Given the description of an element on the screen output the (x, y) to click on. 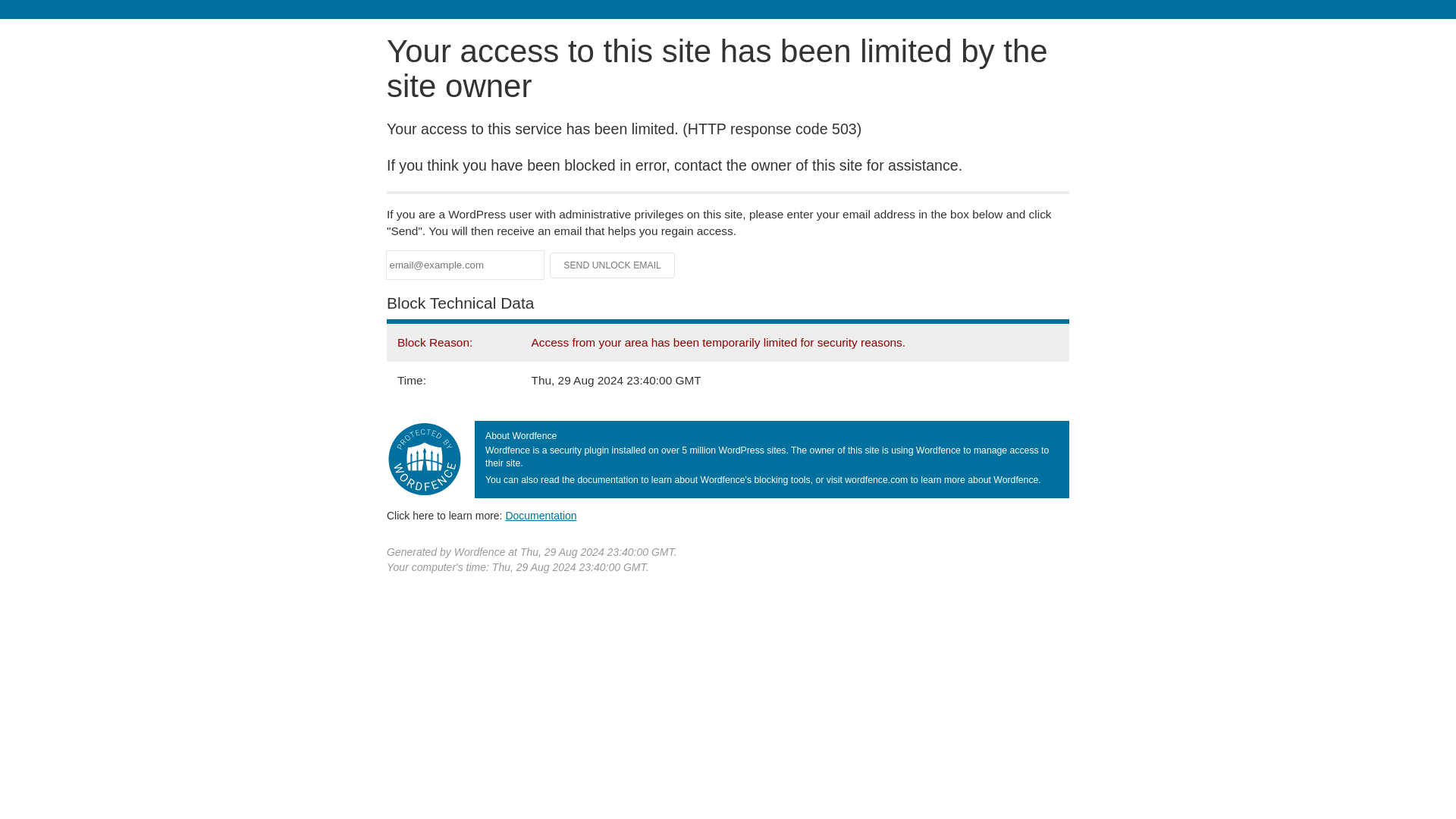
Send Unlock Email (612, 265)
Send Unlock Email (612, 265)
Documentation (540, 515)
